Given the description of an element on the screen output the (x, y) to click on. 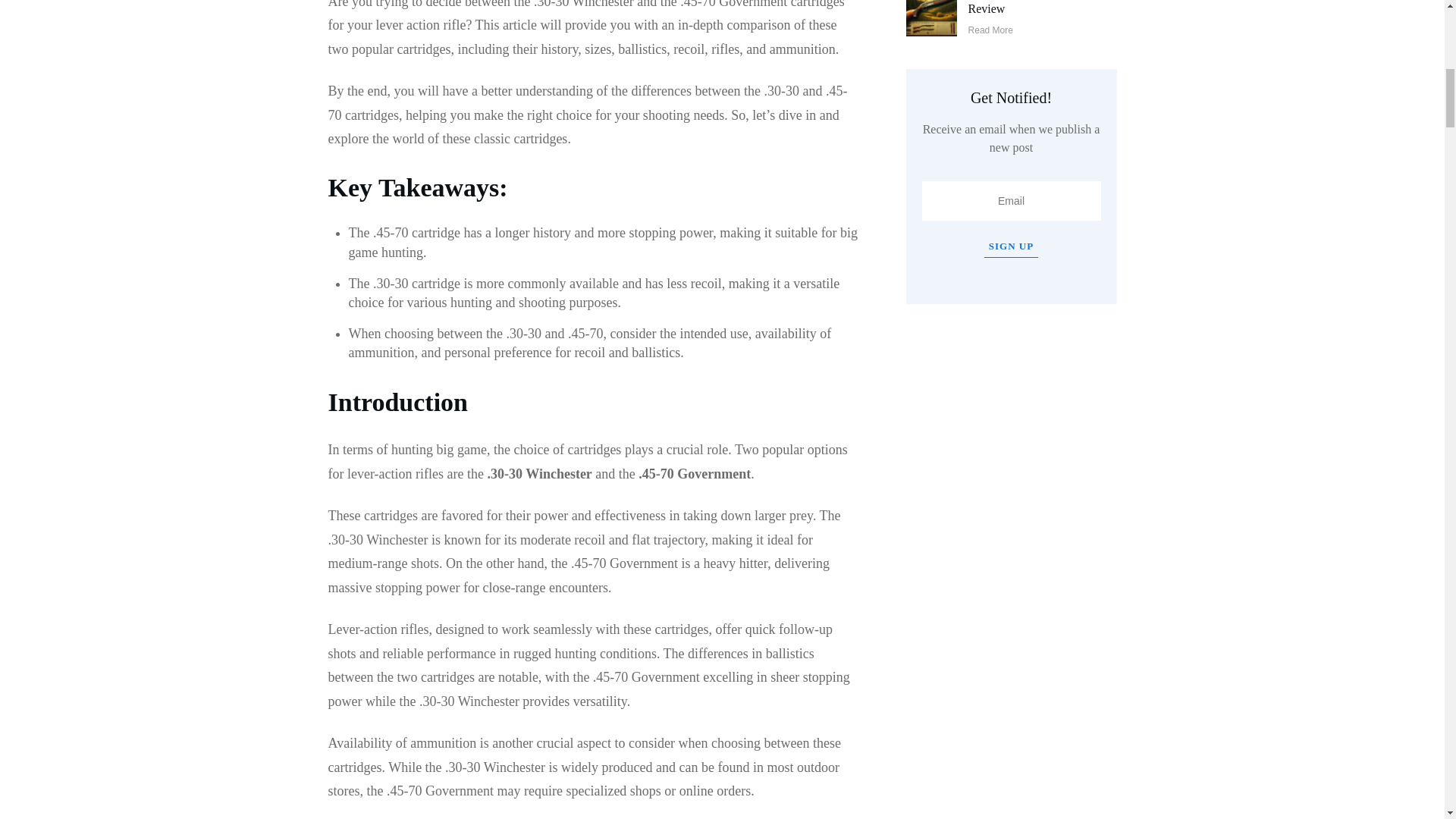
Ithaca Featherlight 12 Gauge Review (1038, 7)
Ithaca Featherlight 12 Gauge Review (1038, 7)
Read More (990, 30)
SIGN UP (1011, 246)
